Given the description of an element on the screen output the (x, y) to click on. 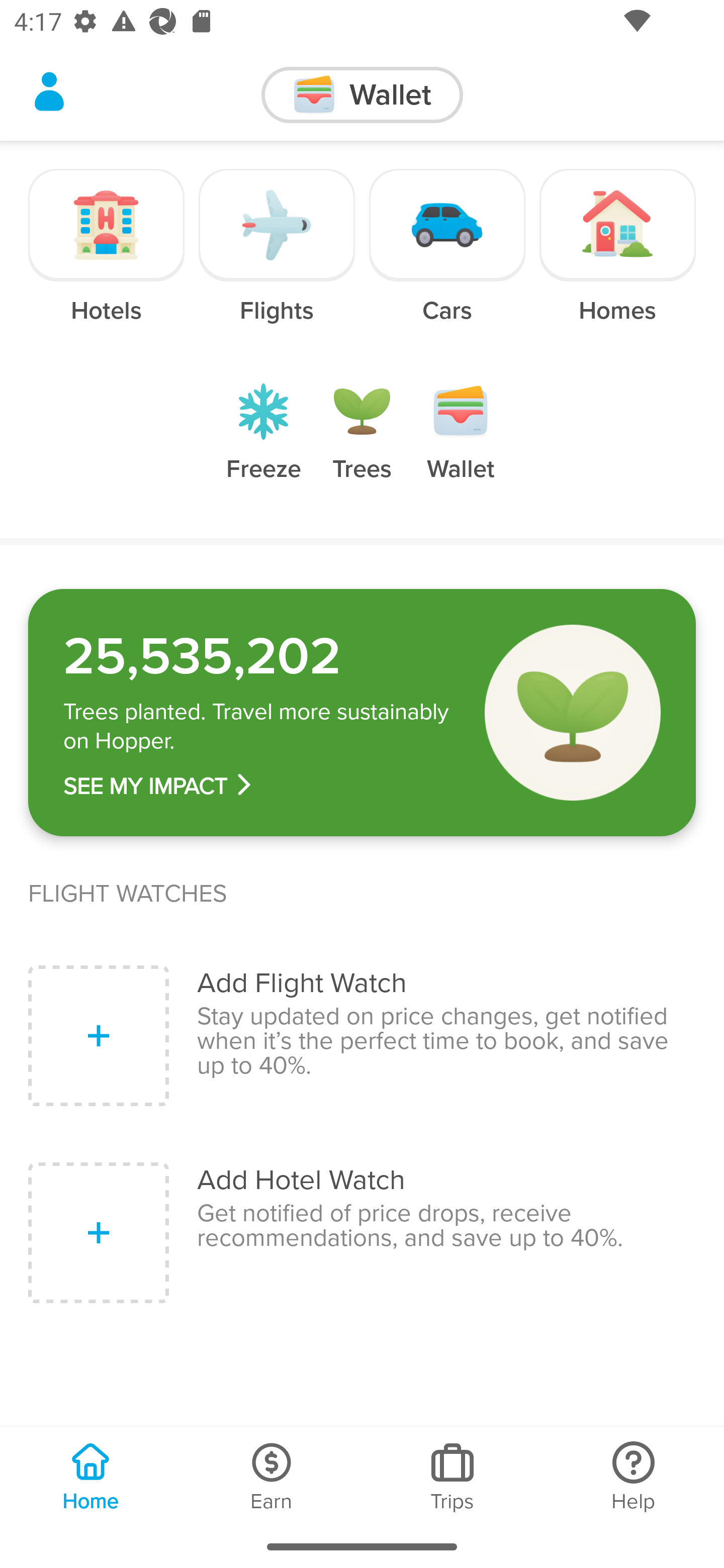
‍Wallet (362, 95)
Hotels (106, 260)
Flights (276, 260)
Cars (447, 260)
Homes (617, 260)
Freeze (263, 446)
Trees (361, 446)
Wallet (460, 446)
‍25,535,202 (259, 656)
‍Trees planted. Travel more sustainably on Hopper. (259, 726)
‍SEE MY IMPACT ​ (259, 786)
Earn (271, 1475)
Trips (452, 1475)
Help (633, 1475)
